Given the description of an element on the screen output the (x, y) to click on. 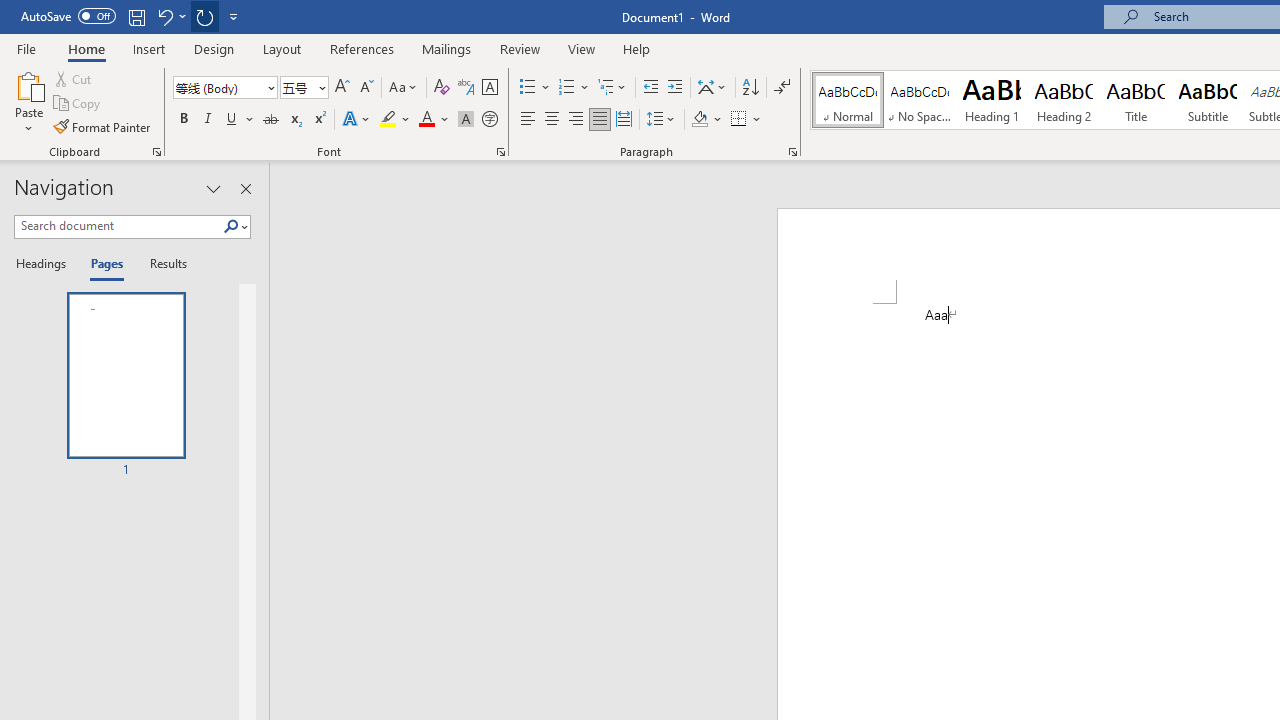
Mailings (447, 48)
Show/Hide Editing Marks (781, 87)
Bold (183, 119)
Headings (45, 264)
Font... (500, 151)
Font Size (297, 87)
Underline (239, 119)
Search (235, 227)
Center (552, 119)
Customize Quick Access Toolbar (234, 15)
Search (231, 227)
Home (86, 48)
View (582, 48)
Borders (746, 119)
